Given the description of an element on the screen output the (x, y) to click on. 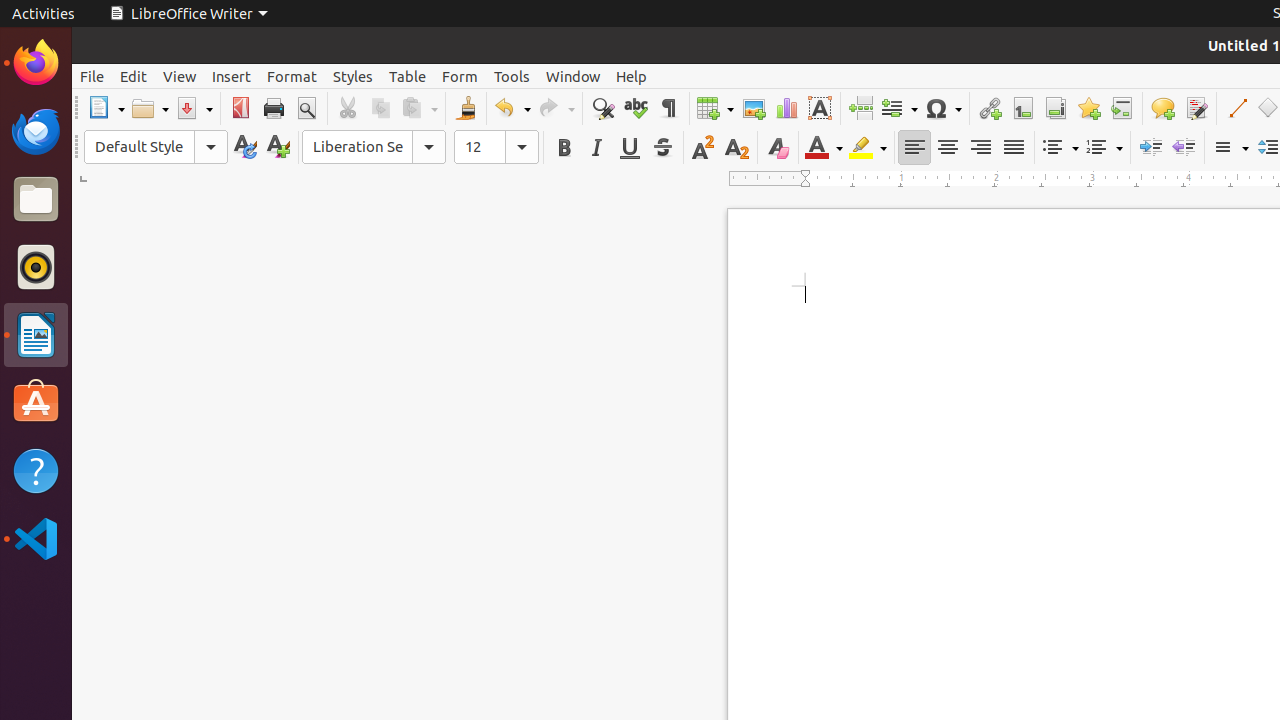
Numbering Element type: push-button (1104, 147)
Page Break Element type: push-button (860, 108)
Print Preview Element type: toggle-button (306, 108)
Cut Element type: push-button (347, 108)
Subscript Element type: toggle-button (736, 147)
